Given the description of an element on the screen output the (x, y) to click on. 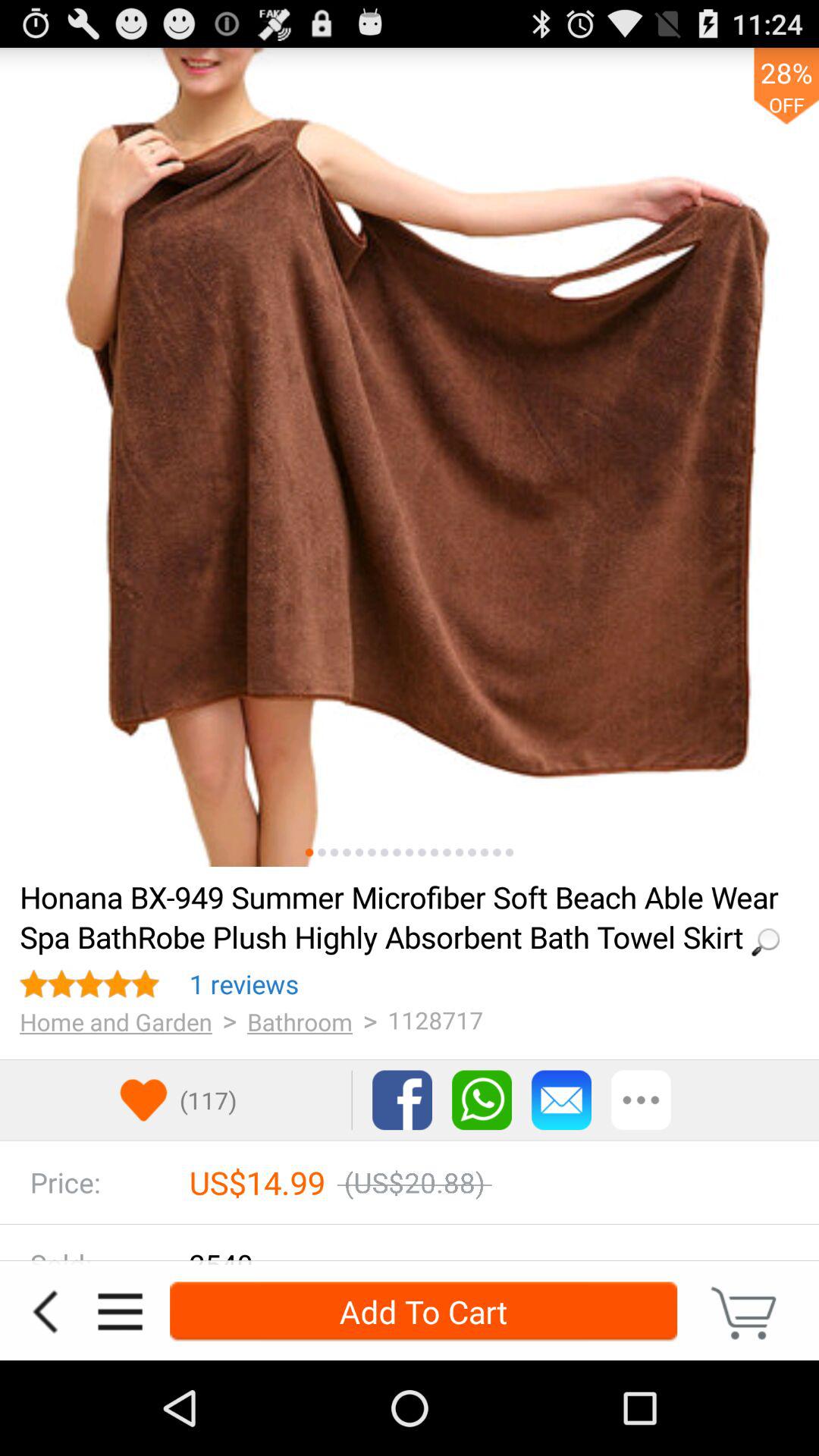
select product image (359, 852)
